Given the description of an element on the screen output the (x, y) to click on. 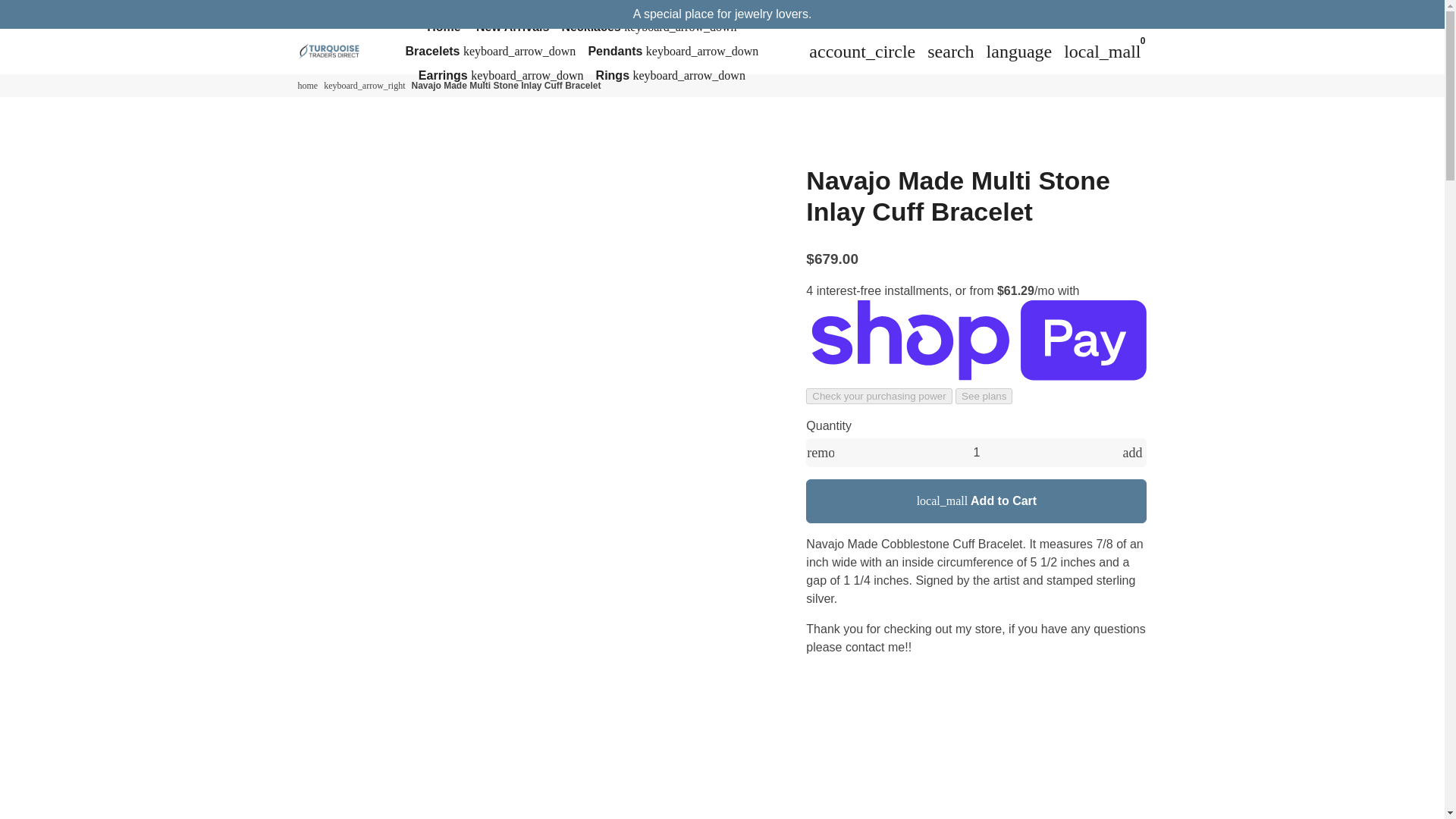
1 (976, 452)
Log In (862, 51)
Search (950, 51)
